Given the description of an element on the screen output the (x, y) to click on. 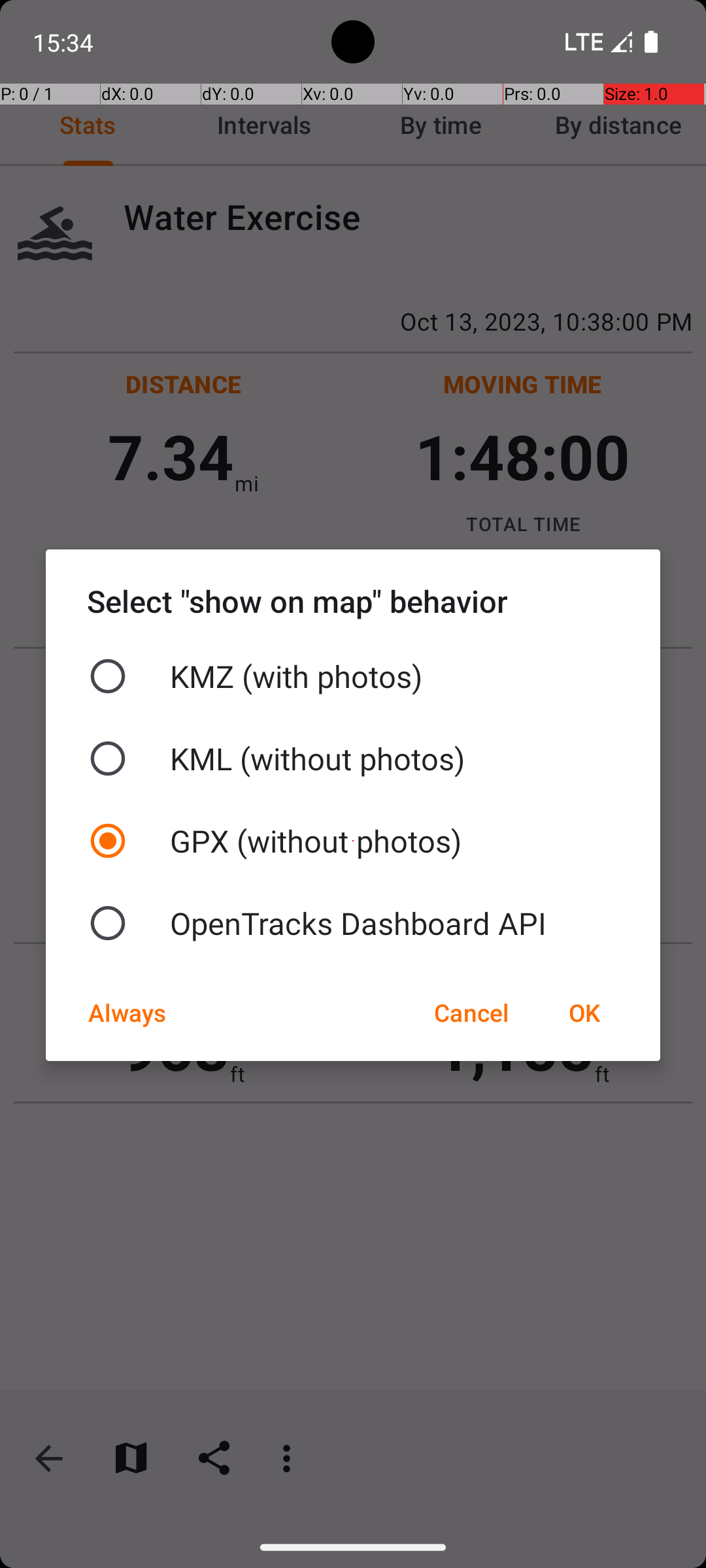
Select "show on map" behavior Element type: android.widget.TextView (352, 600)
KMZ (with photos) Element type: android.widget.CheckedTextView (352, 676)
KML (without photos) Element type: android.widget.CheckedTextView (352, 758)
GPX (without photos) Element type: android.widget.CheckedTextView (352, 840)
OpenTracks Dashboard API Element type: android.widget.CheckedTextView (352, 923)
